Given the description of an element on the screen output the (x, y) to click on. 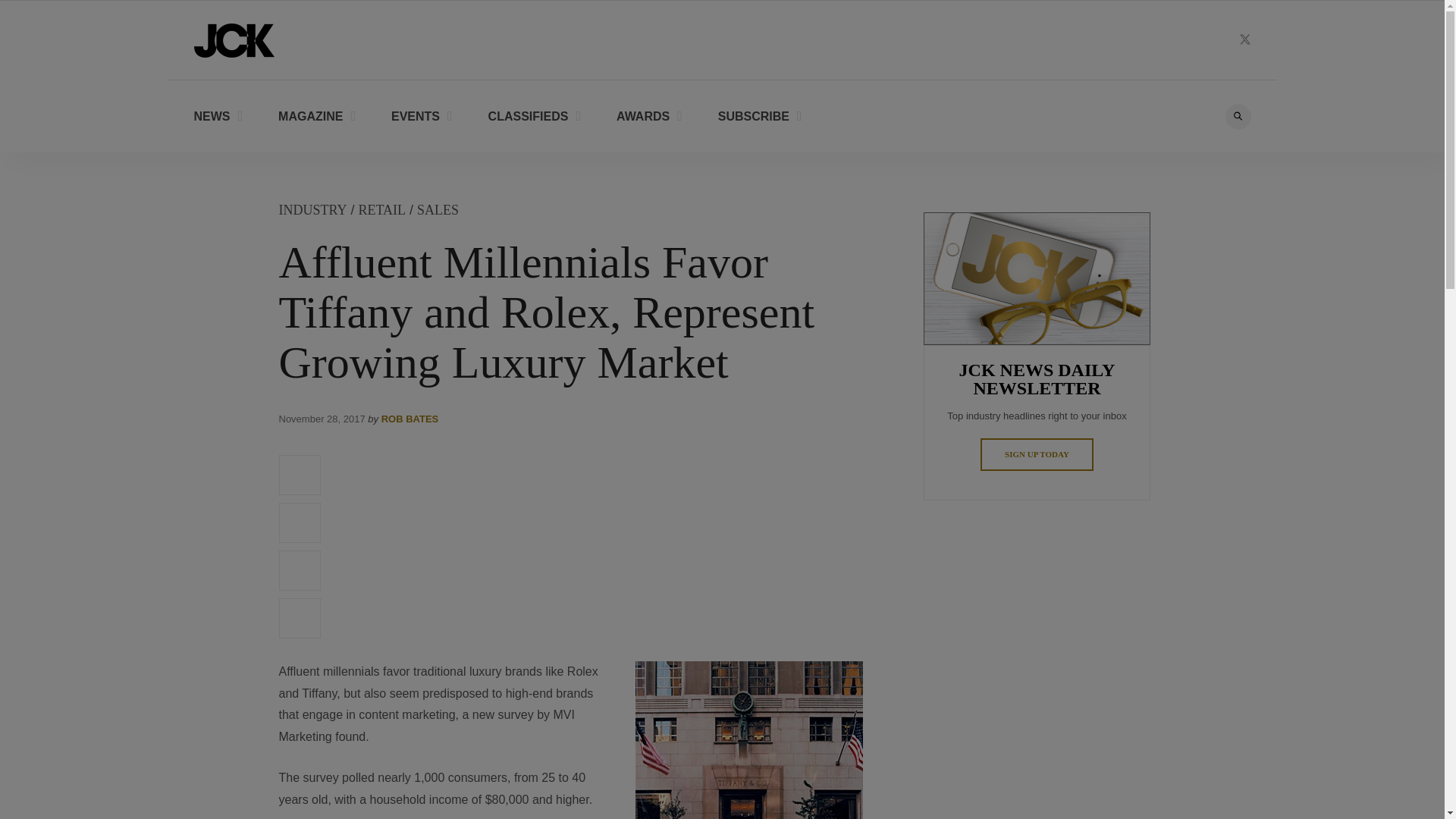
View all posts in Industry (313, 209)
View all posts in Retail (382, 209)
JCK (234, 39)
MAGAZINE (316, 116)
View all posts in Sales (437, 209)
